Given the description of an element on the screen output the (x, y) to click on. 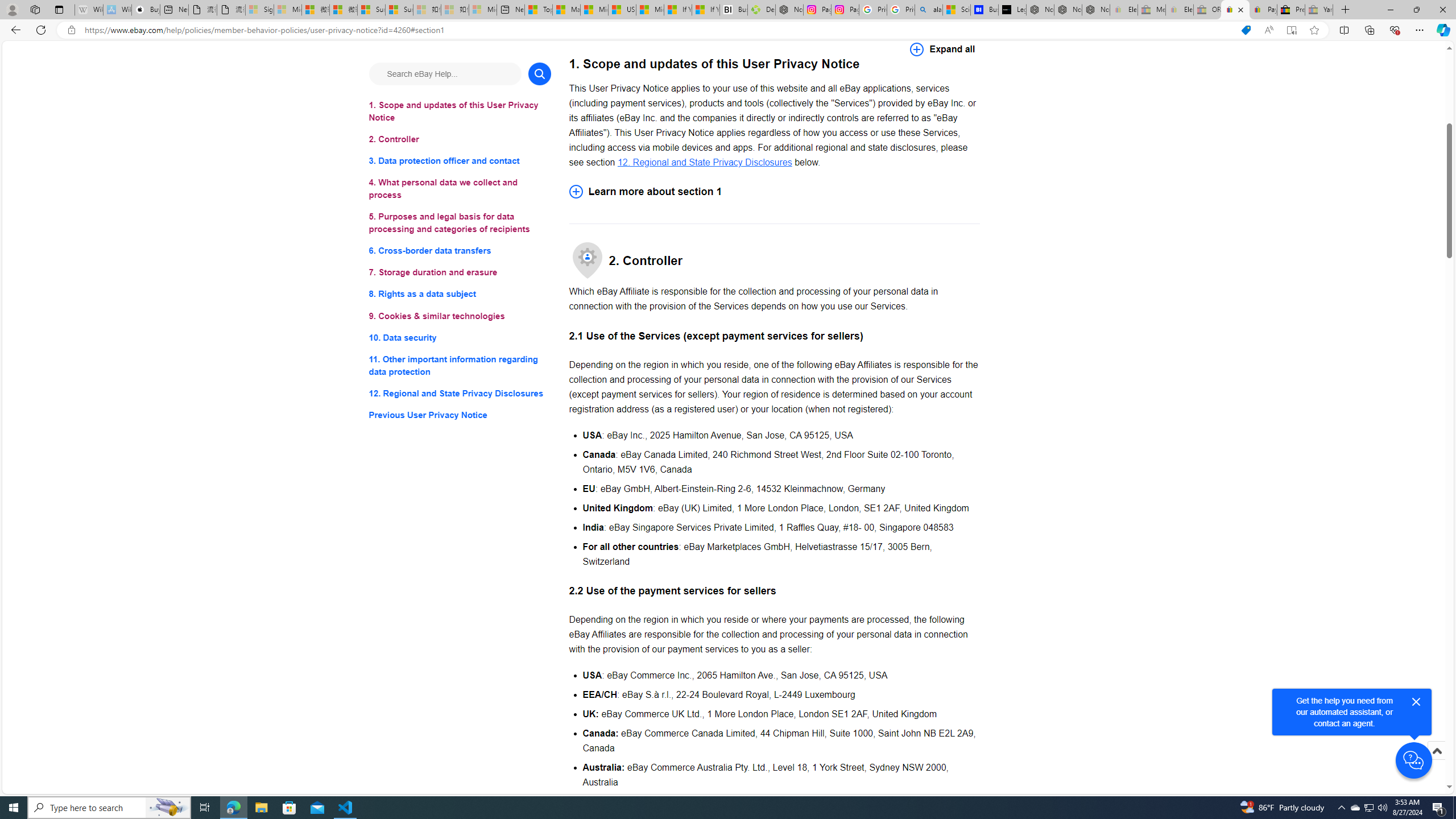
2. Controller (459, 138)
1. Scope and updates of this User Privacy Notice (459, 111)
Expand all (942, 49)
